Given the description of an element on the screen output the (x, y) to click on. 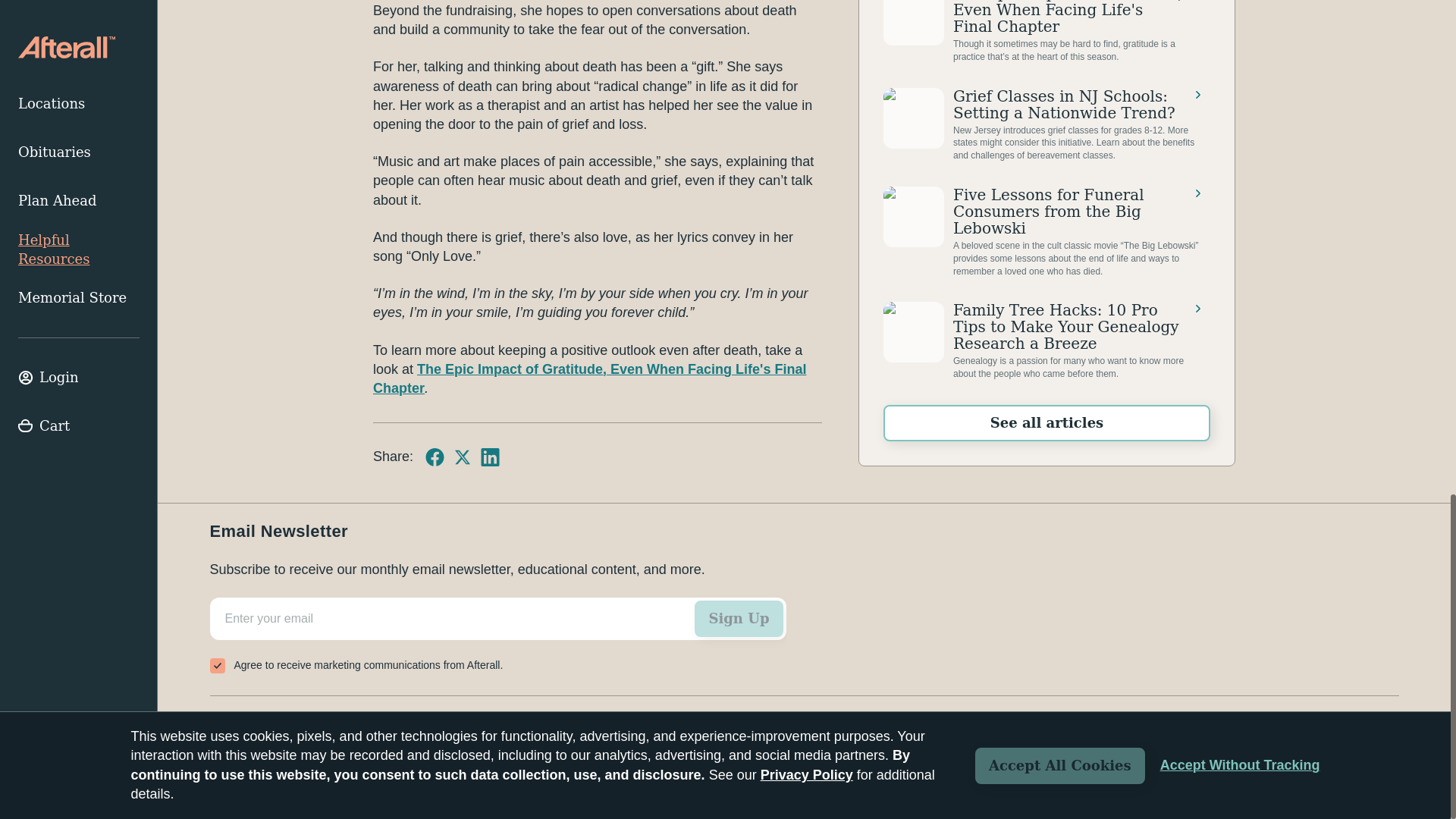
Facebook (434, 456)
Track an Order (257, 723)
Sign Up (738, 618)
FAQs (341, 723)
LinkedIn (489, 456)
Twitter (461, 457)
Email Newsletter (497, 637)
